Given the description of an element on the screen output the (x, y) to click on. 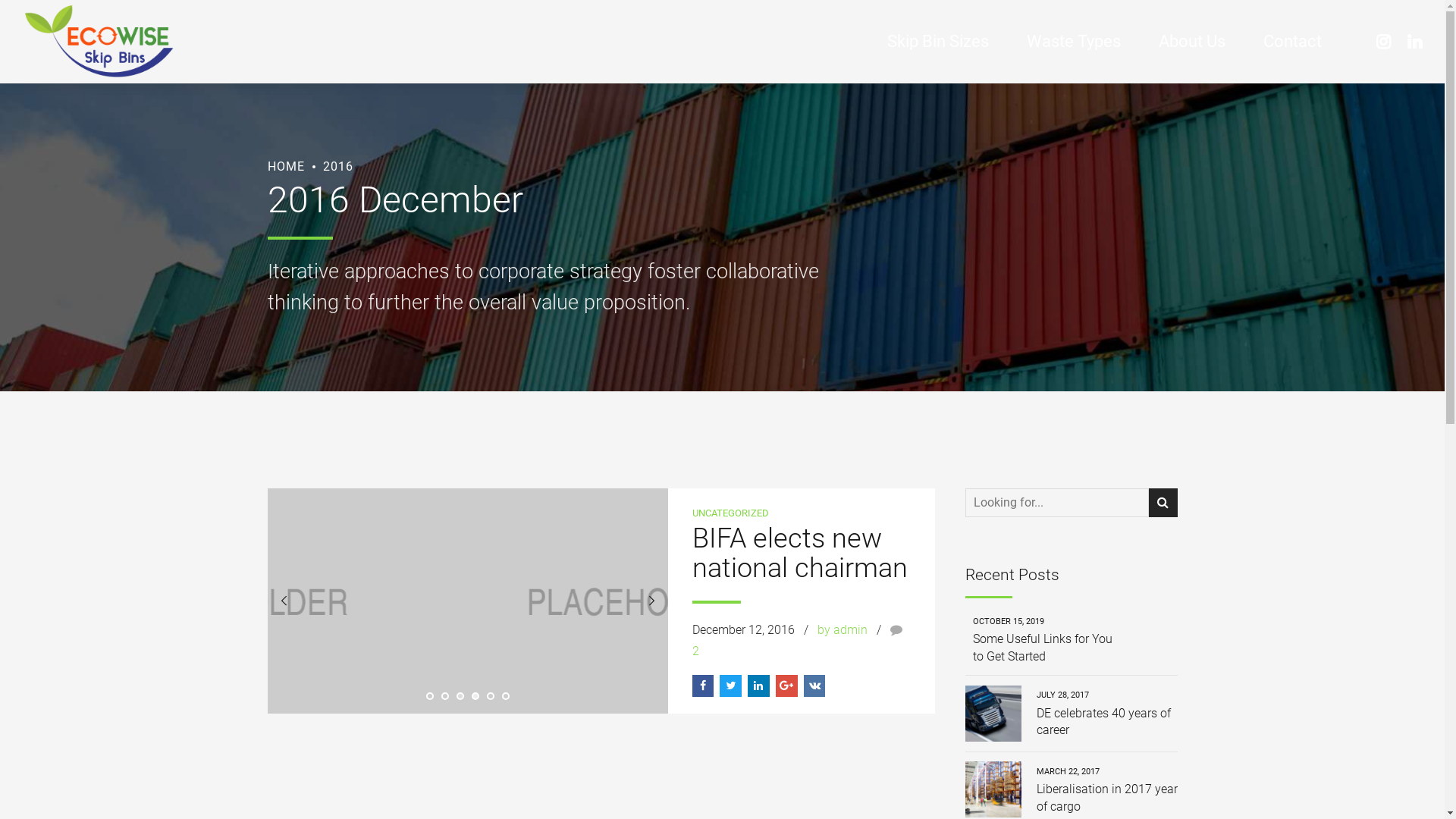
HOME Element type: text (285, 166)
Waste Types Element type: text (1073, 41)
2 Element type: text (798, 639)
About Us Element type: text (1191, 41)
Contact Element type: text (1292, 41)
UNCATEGORIZED Element type: text (729, 512)
DE celebrates 40 years of career Element type: text (1105, 722)
Liberalisation in 2017 year of cargo Element type: text (1105, 798)
by admin Element type: text (842, 628)
BIFA elects new national chairman Element type: text (798, 553)
Some Useful Links for You to Get Started Element type: text (1042, 647)
Skip Bin Sizes Element type: text (937, 41)
